Given the description of an element on the screen output the (x, y) to click on. 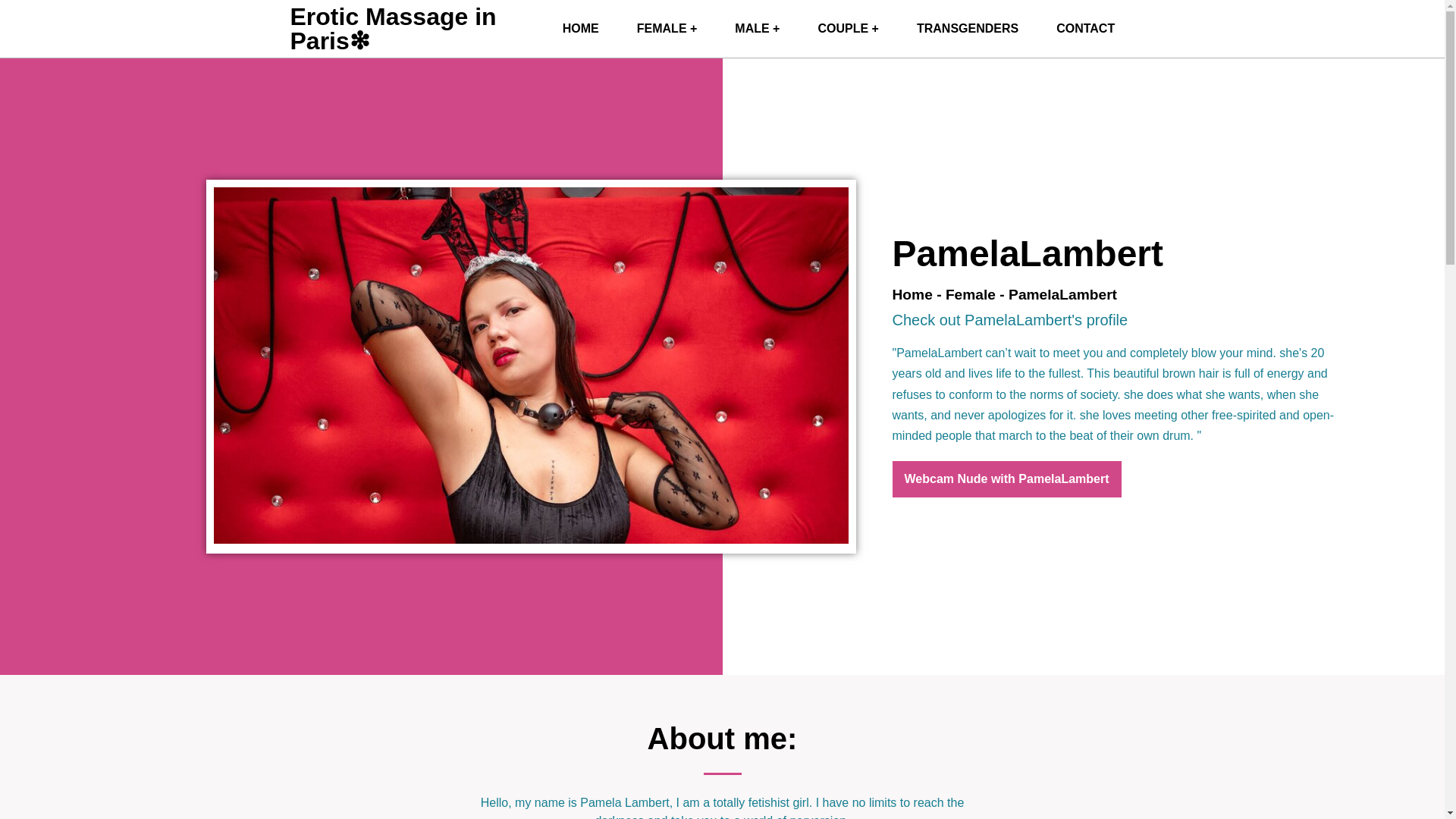
Female (969, 294)
Home (911, 294)
HOME (580, 28)
CONTACT (1086, 28)
TRANSGENDERS (967, 28)
Webcam Nude with PamelaLambert (1006, 479)
Erotic Massage In Paris?? (392, 28)
Transgenders (967, 28)
Erotic Massage In Paris?? (580, 28)
Contact (1086, 28)
